Given the description of an element on the screen output the (x, y) to click on. 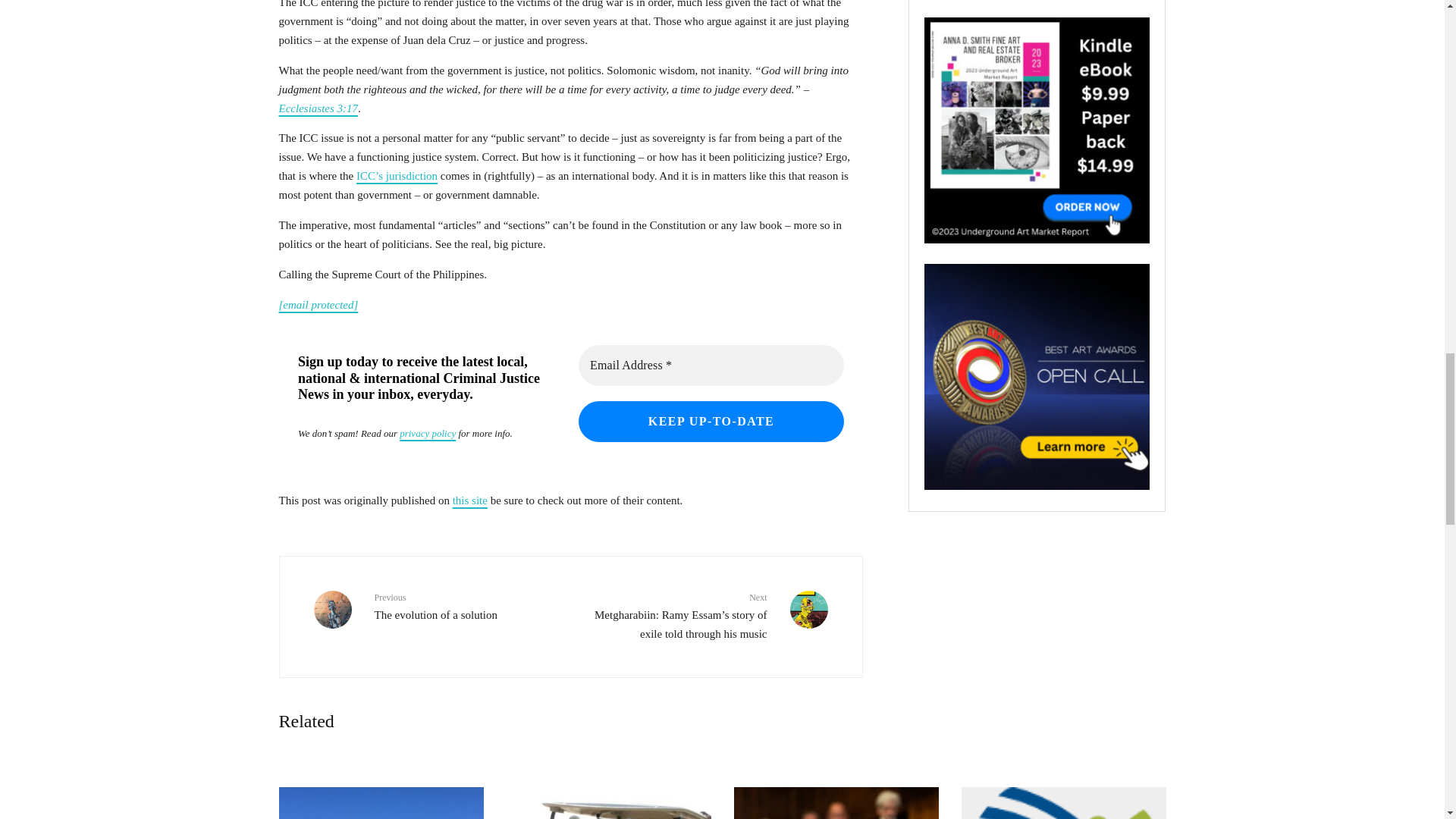
Email Address (710, 364)
Keep Up-to-date (710, 421)
Ecclesiastes 3:17 (318, 108)
